Given the description of an element on the screen output the (x, y) to click on. 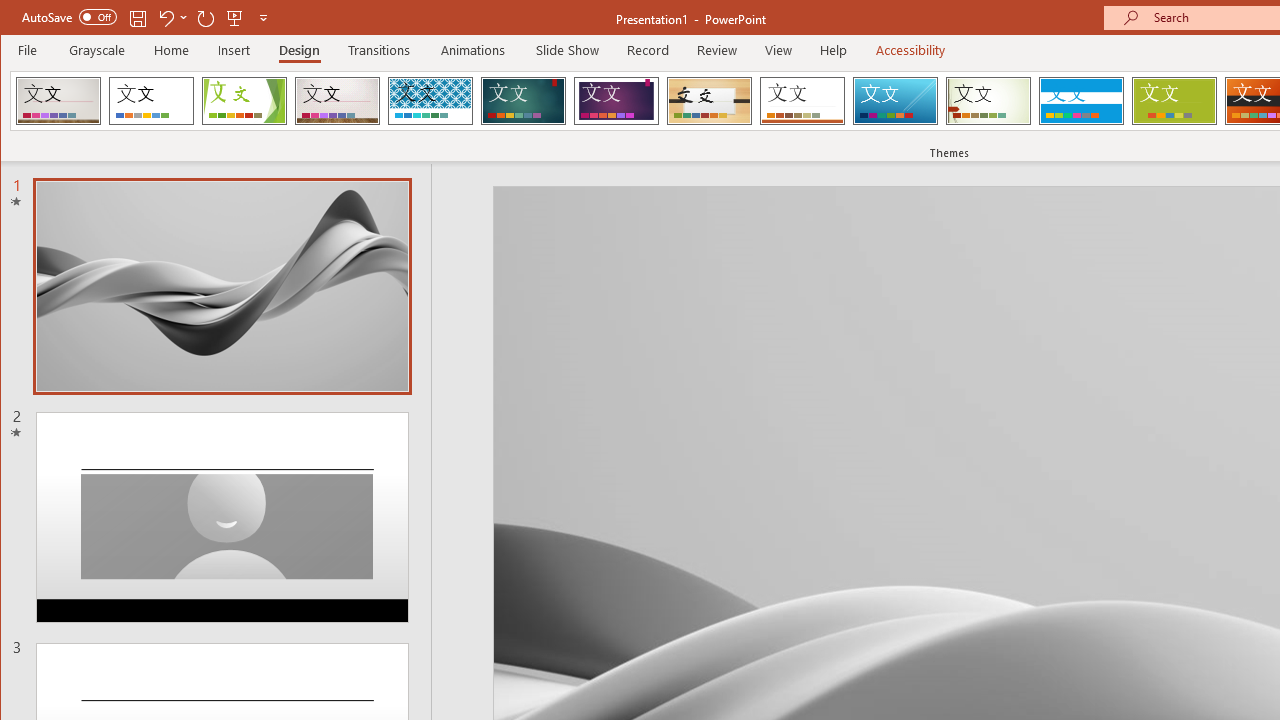
Wisp (988, 100)
Office Theme (151, 100)
